Given the description of an element on the screen output the (x, y) to click on. 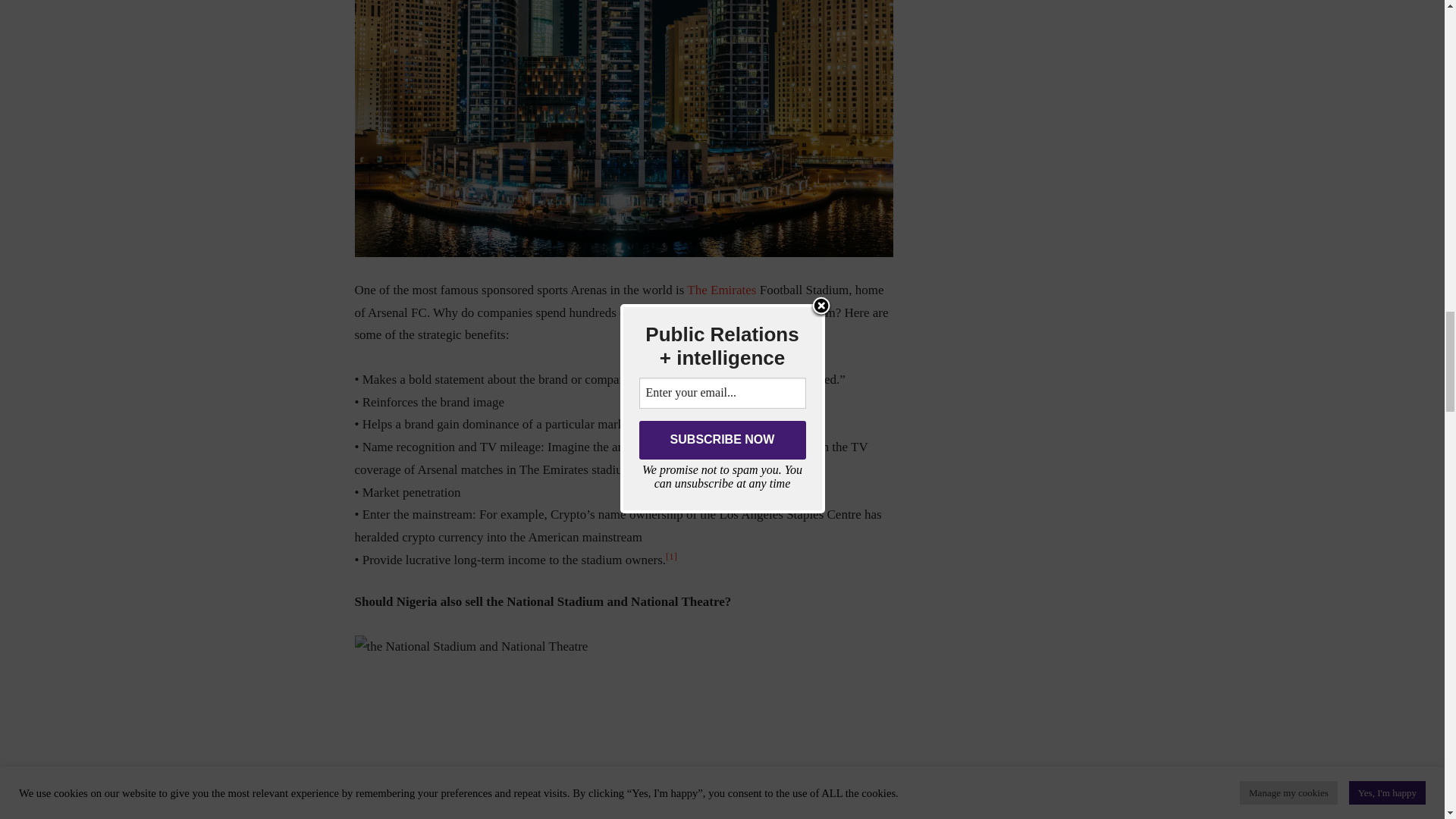
The Emirates (721, 289)
